Given the description of an element on the screen output the (x, y) to click on. 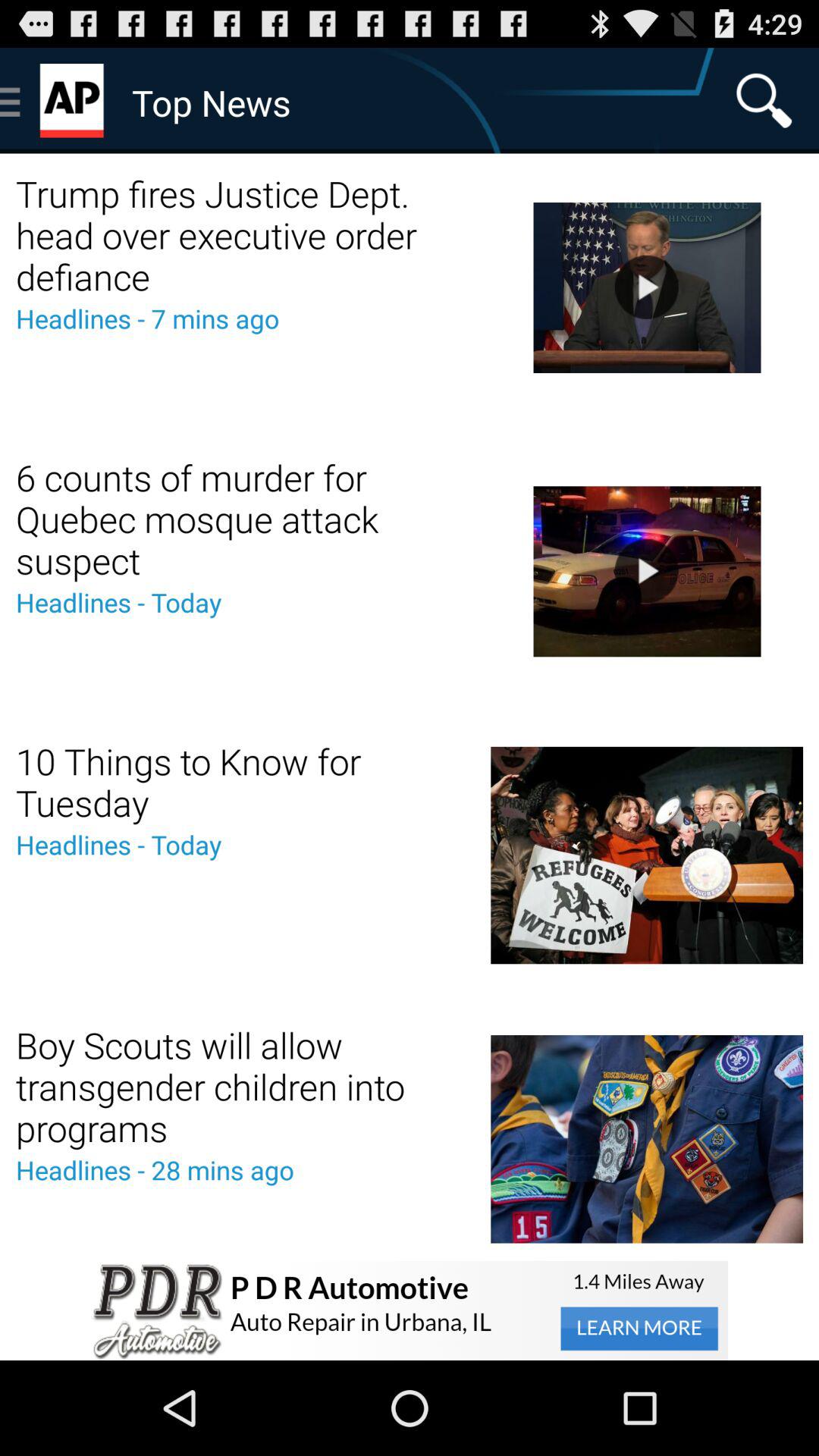
open link to advertisement (409, 1310)
